Given the description of an element on the screen output the (x, y) to click on. 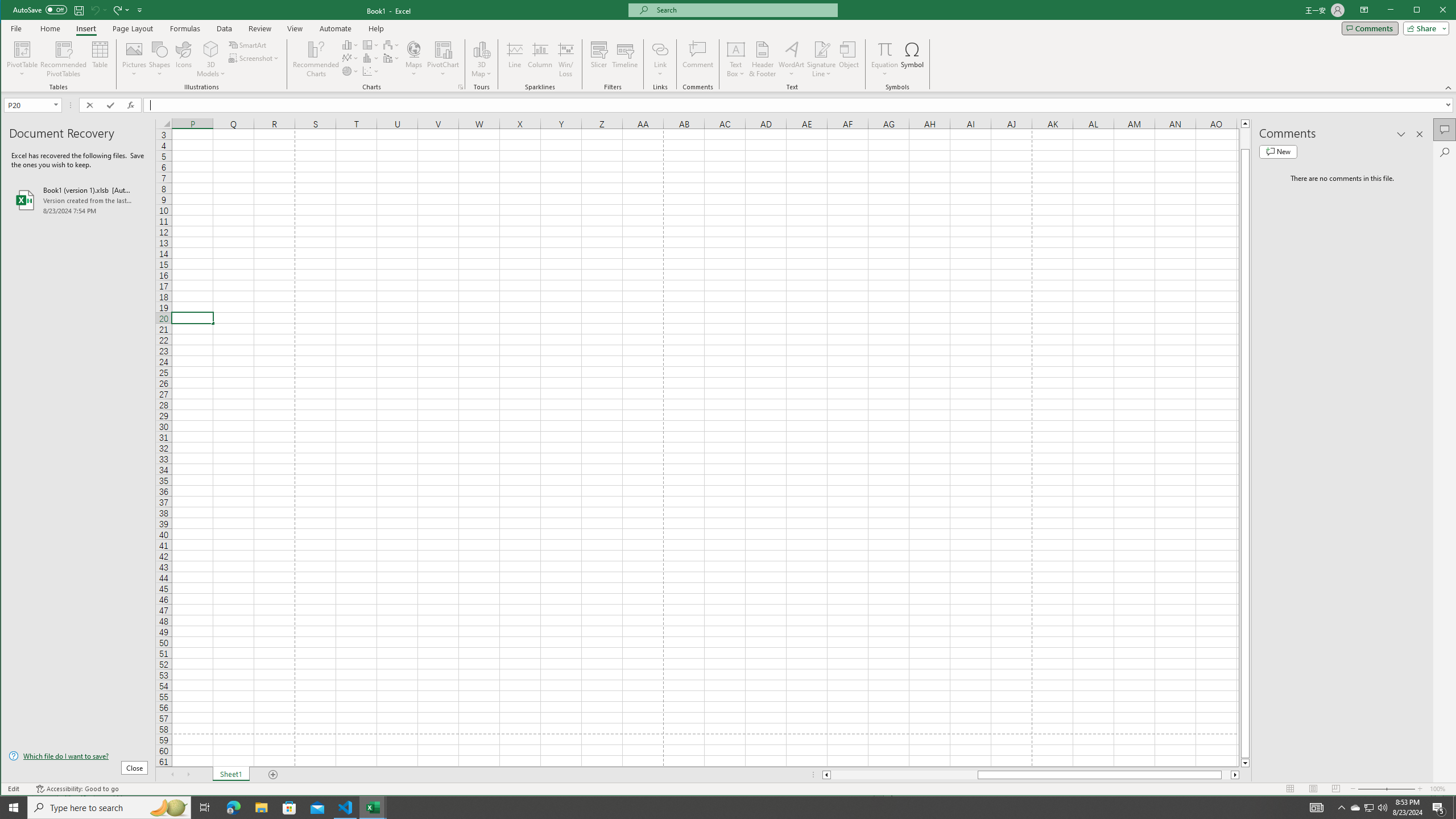
Sheet1 (230, 774)
Scroll Left (172, 774)
Zoom In (1420, 788)
Add Sheet (272, 774)
Automate (336, 28)
Insert Statistic Chart (371, 57)
AutomationID: 4105 (1316, 807)
Which file do I want to save? (78, 755)
Search highlights icon opens search home window (167, 807)
Show desktop (1368, 807)
PivotChart (1454, 807)
Slicer... (443, 59)
